Given the description of an element on the screen output the (x, y) to click on. 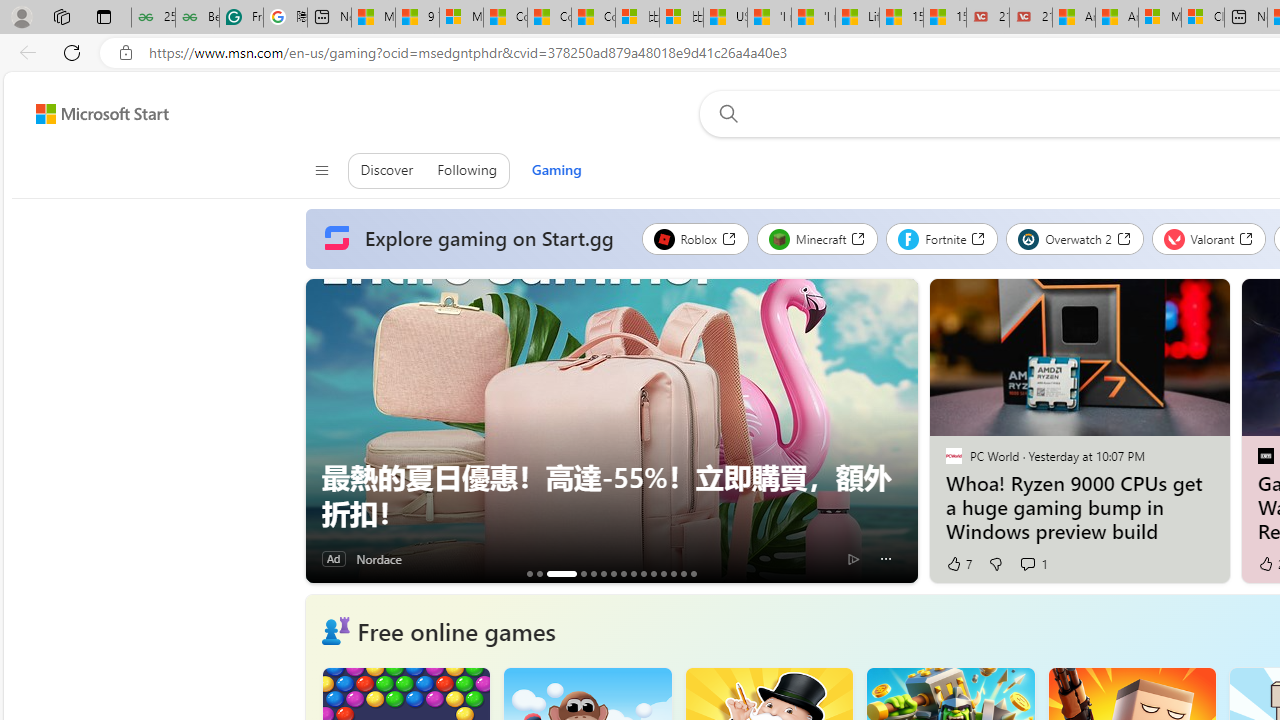
PC World (953, 455)
